Given the description of an element on the screen output the (x, y) to click on. 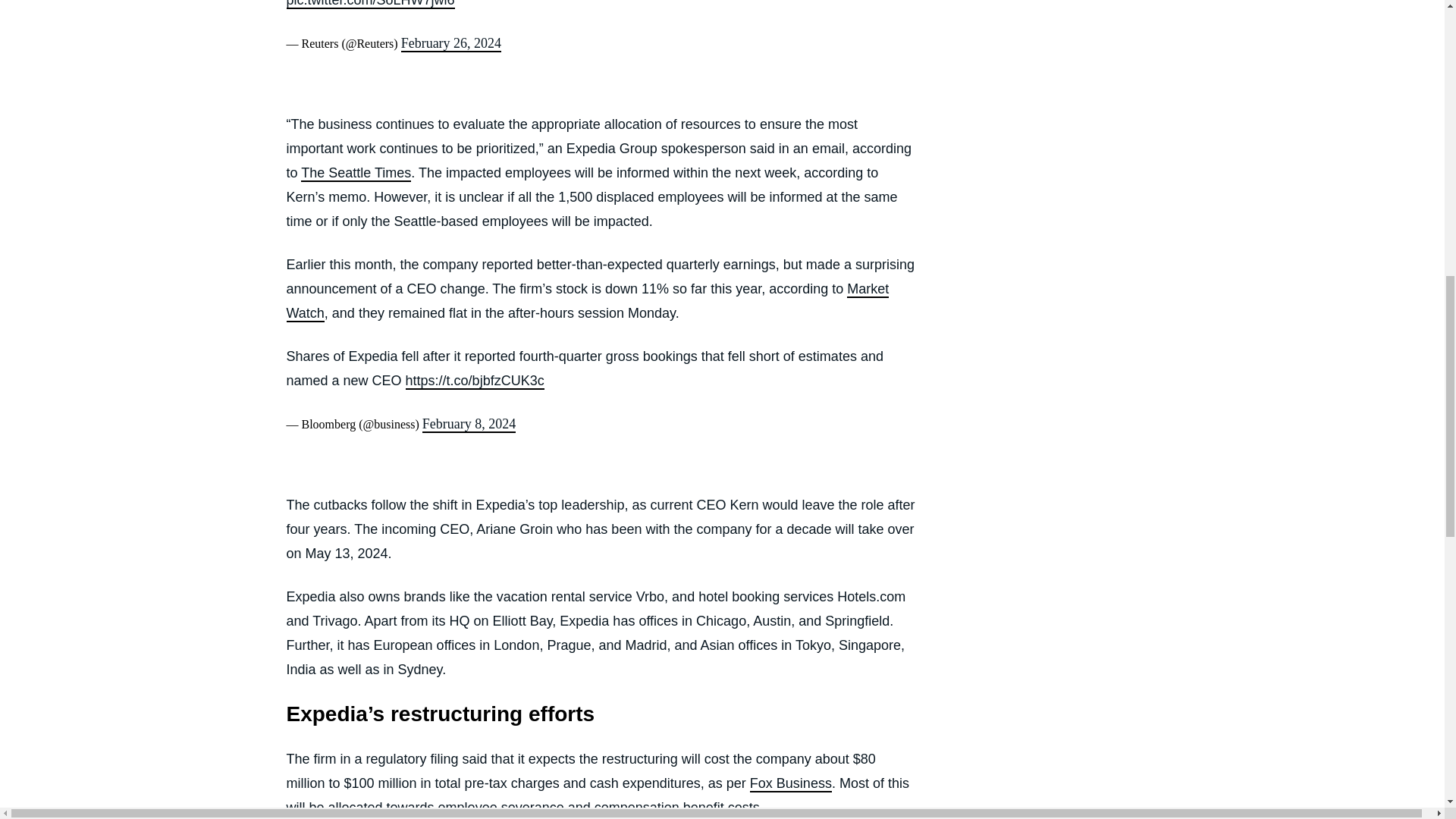
The Seattle Times (355, 173)
February 26, 2024 (450, 44)
Market Watch (587, 301)
February 8, 2024 (468, 424)
Fox Business (790, 783)
